Given the description of an element on the screen output the (x, y) to click on. 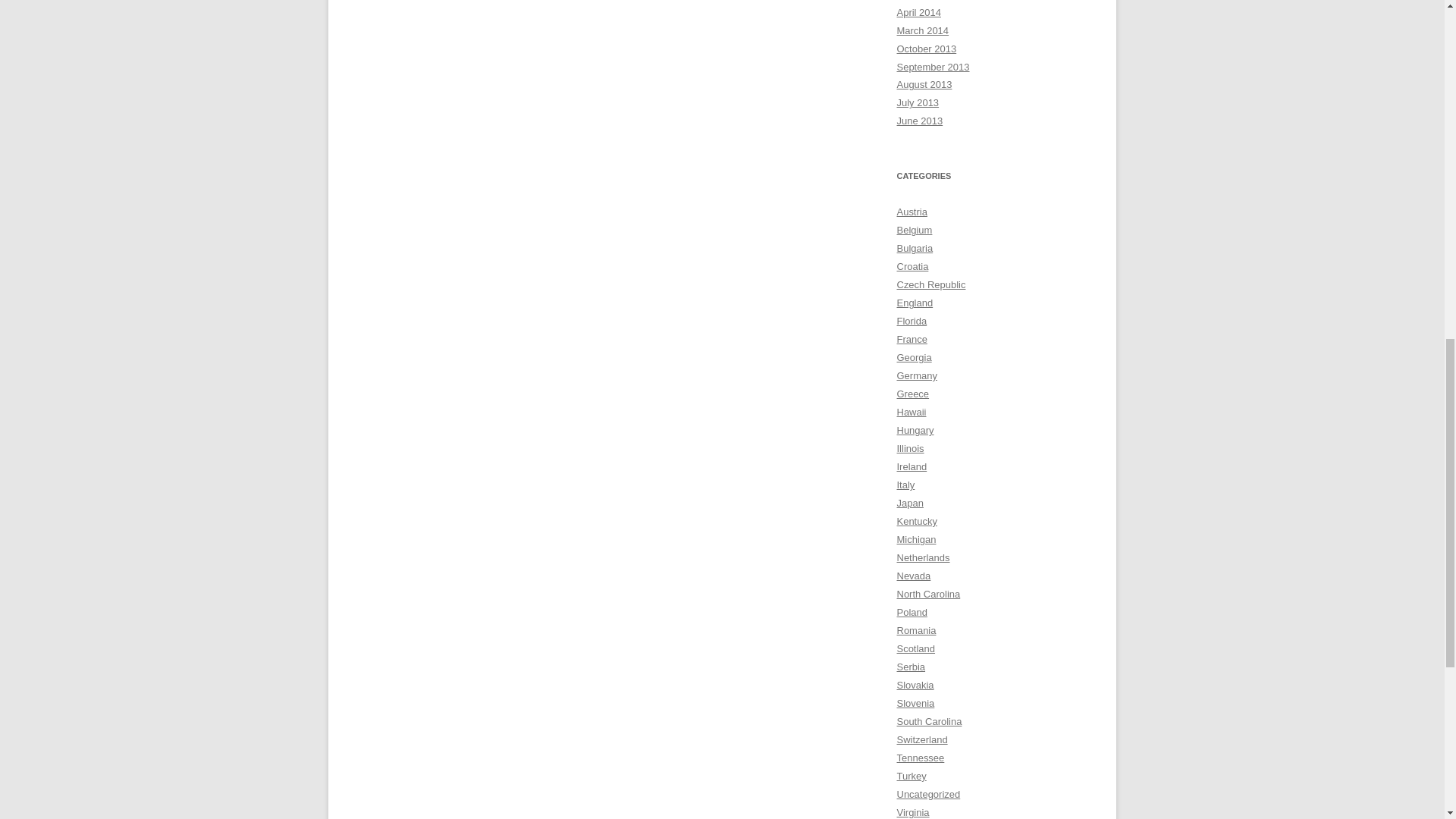
March 2014 (922, 30)
September 2013 (932, 66)
April 2014 (918, 12)
Austria (911, 211)
Belgium (913, 229)
October 2013 (926, 48)
July 2013 (917, 102)
August 2013 (924, 84)
June 2013 (919, 120)
